Given the description of an element on the screen output the (x, y) to click on. 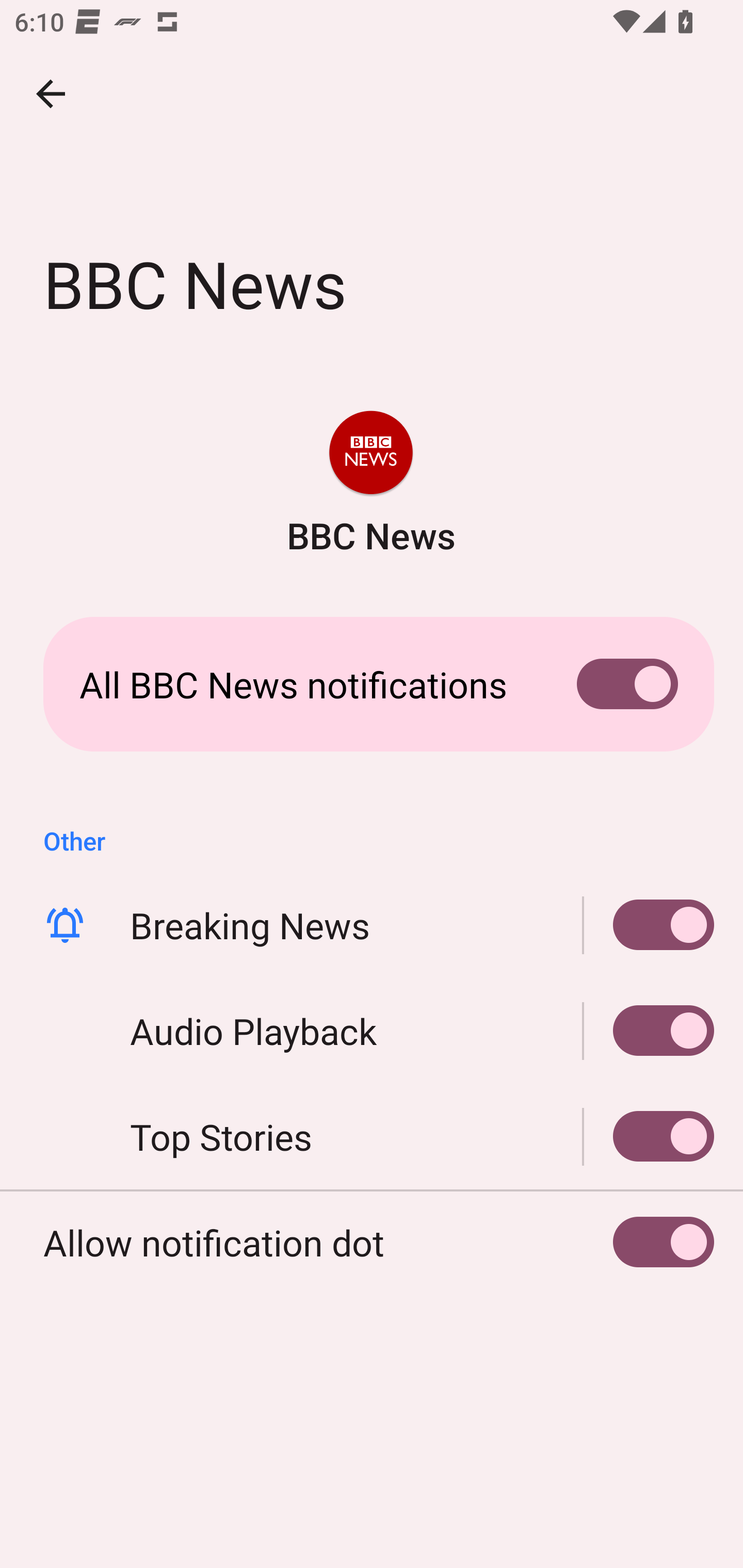
Navigate up (50, 93)
BBC News (370, 484)
All BBC News notifications (371, 684)
Breaking News (371, 924)
Breaking News (648, 924)
Audio Playback (371, 1030)
Audio Playback (648, 1030)
Top Stories (371, 1136)
Top Stories (648, 1136)
Allow notification dot (371, 1242)
